Given the description of an element on the screen output the (x, y) to click on. 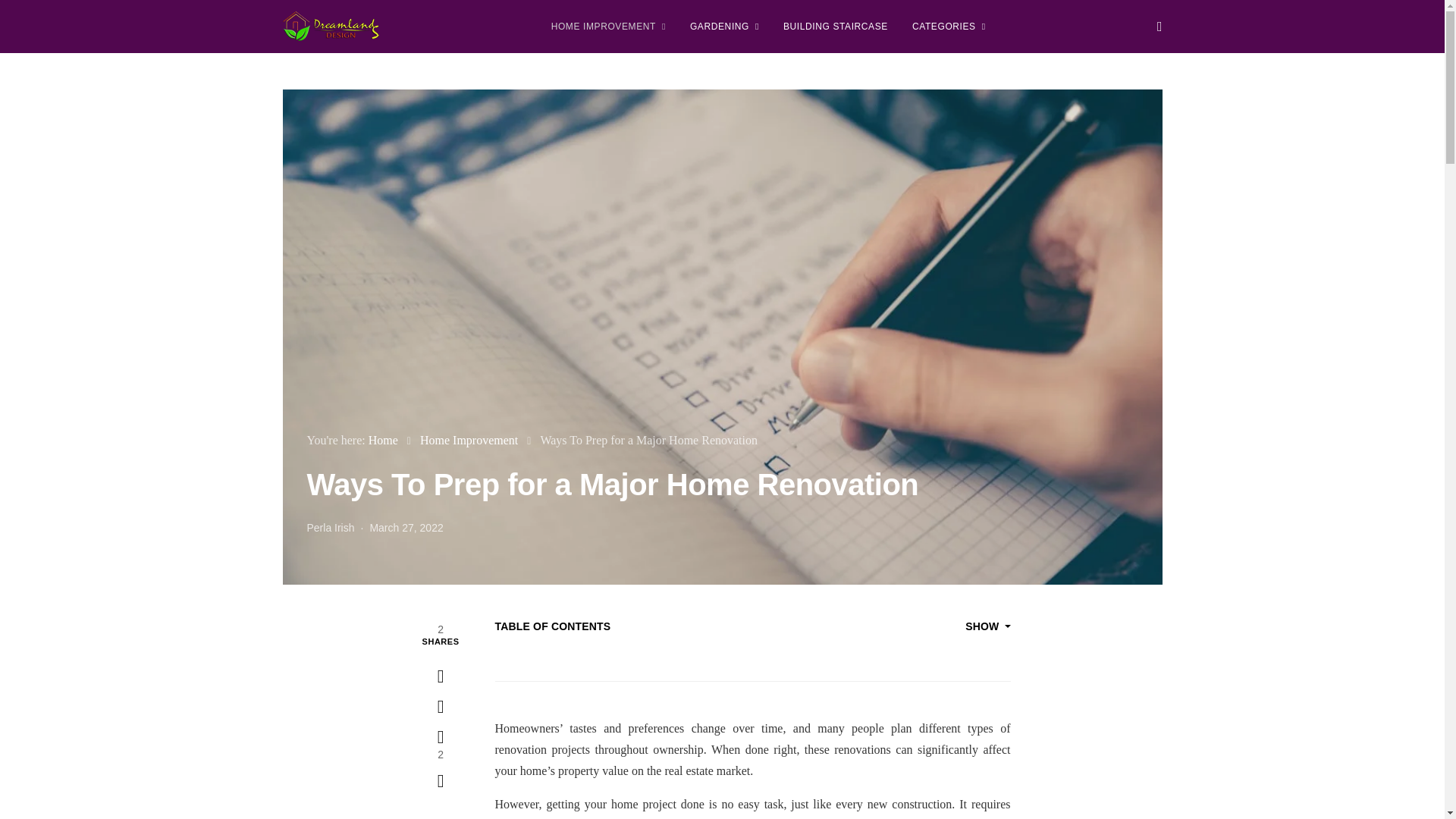
View all posts by Perla Irish (329, 527)
HOME IMPROVEMENT (608, 26)
